Given the description of an element on the screen output the (x, y) to click on. 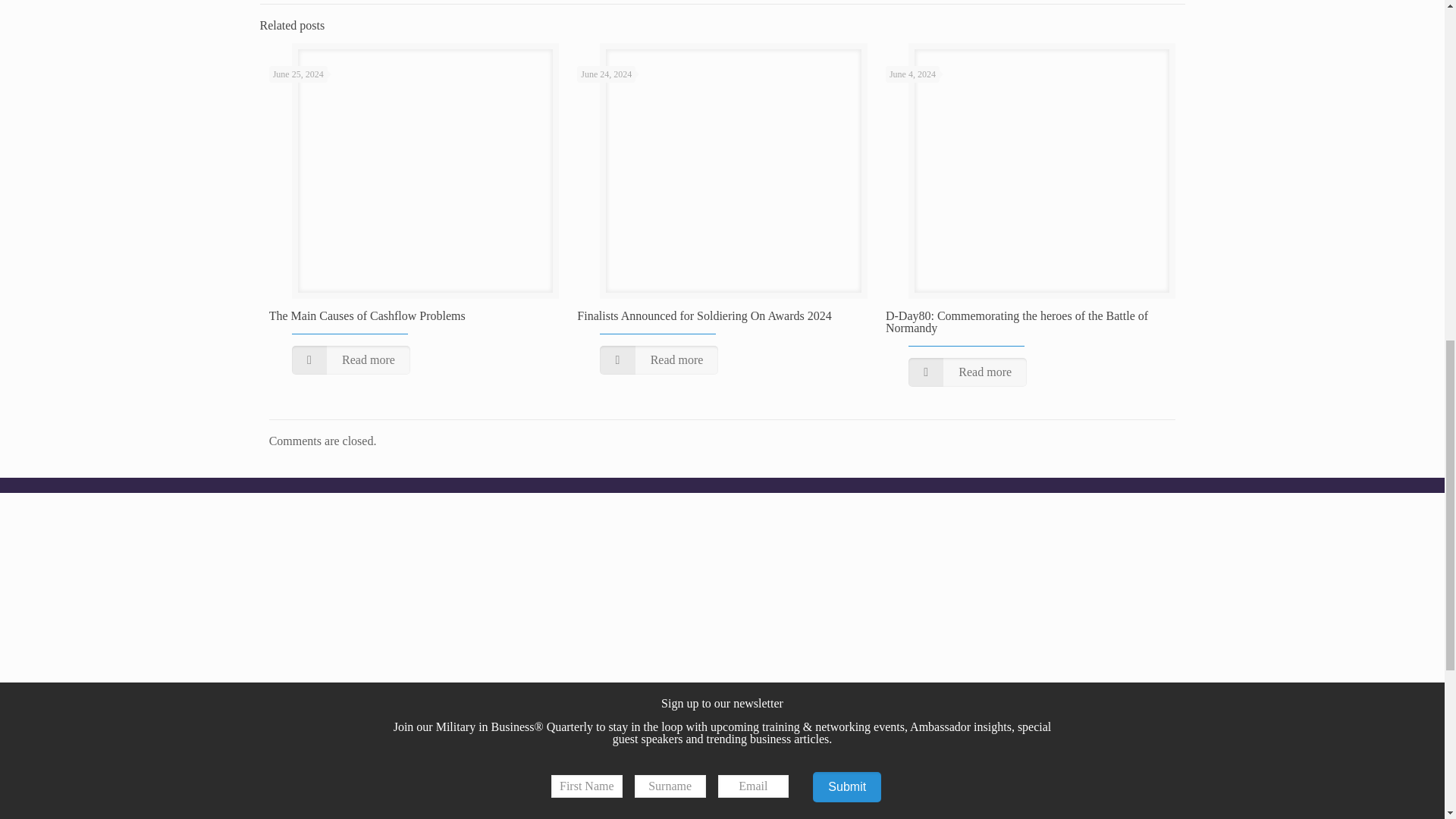
Submit (846, 787)
